Given the description of an element on the screen output the (x, y) to click on. 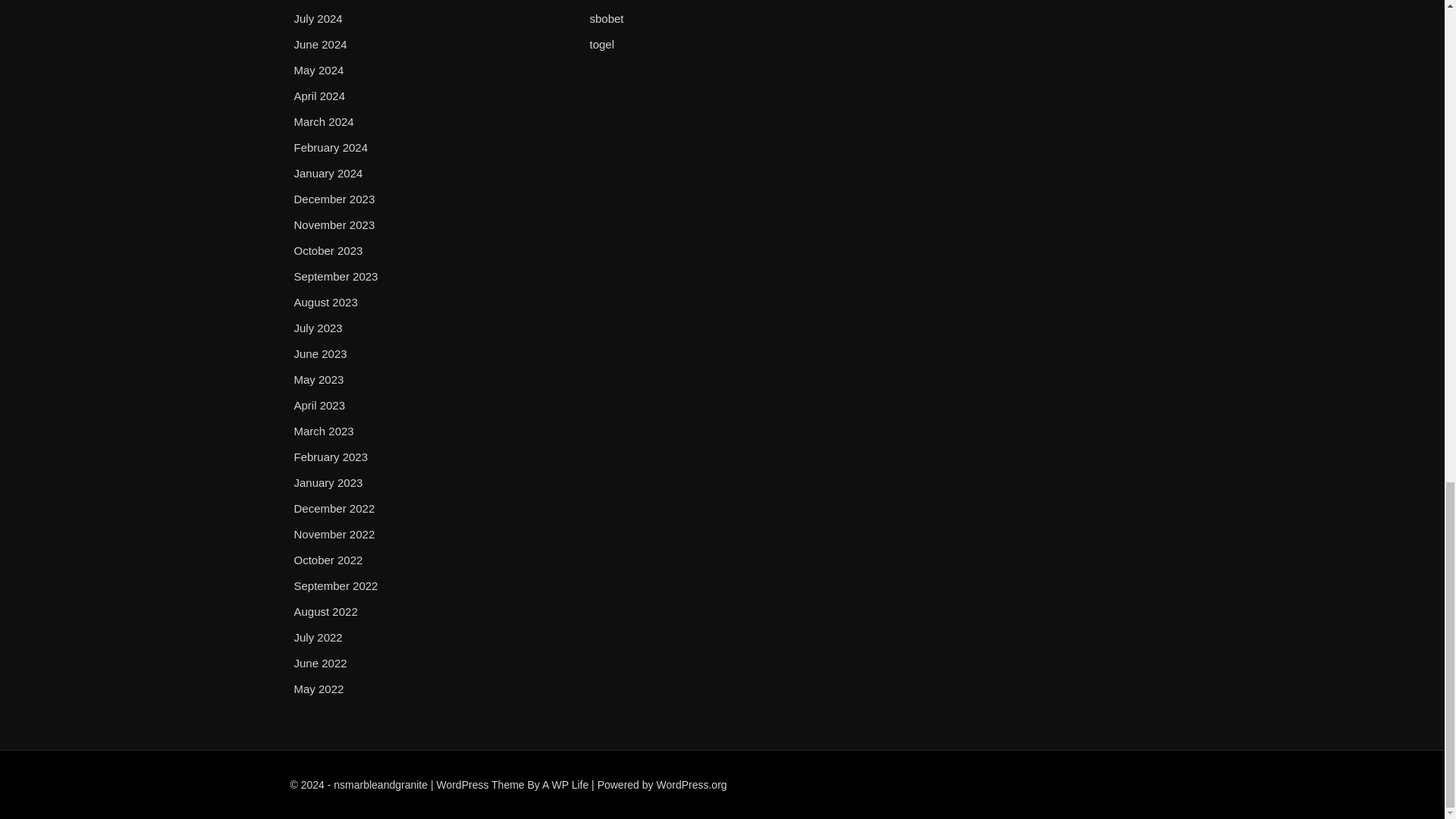
October 2022 (328, 560)
August 2023 (326, 302)
March 2023 (323, 431)
May 2023 (318, 380)
November 2023 (334, 225)
June 2024 (320, 45)
November 2022 (334, 534)
July 2023 (318, 328)
December 2022 (334, 508)
May 2024 (318, 70)
